Given the description of an element on the screen output the (x, y) to click on. 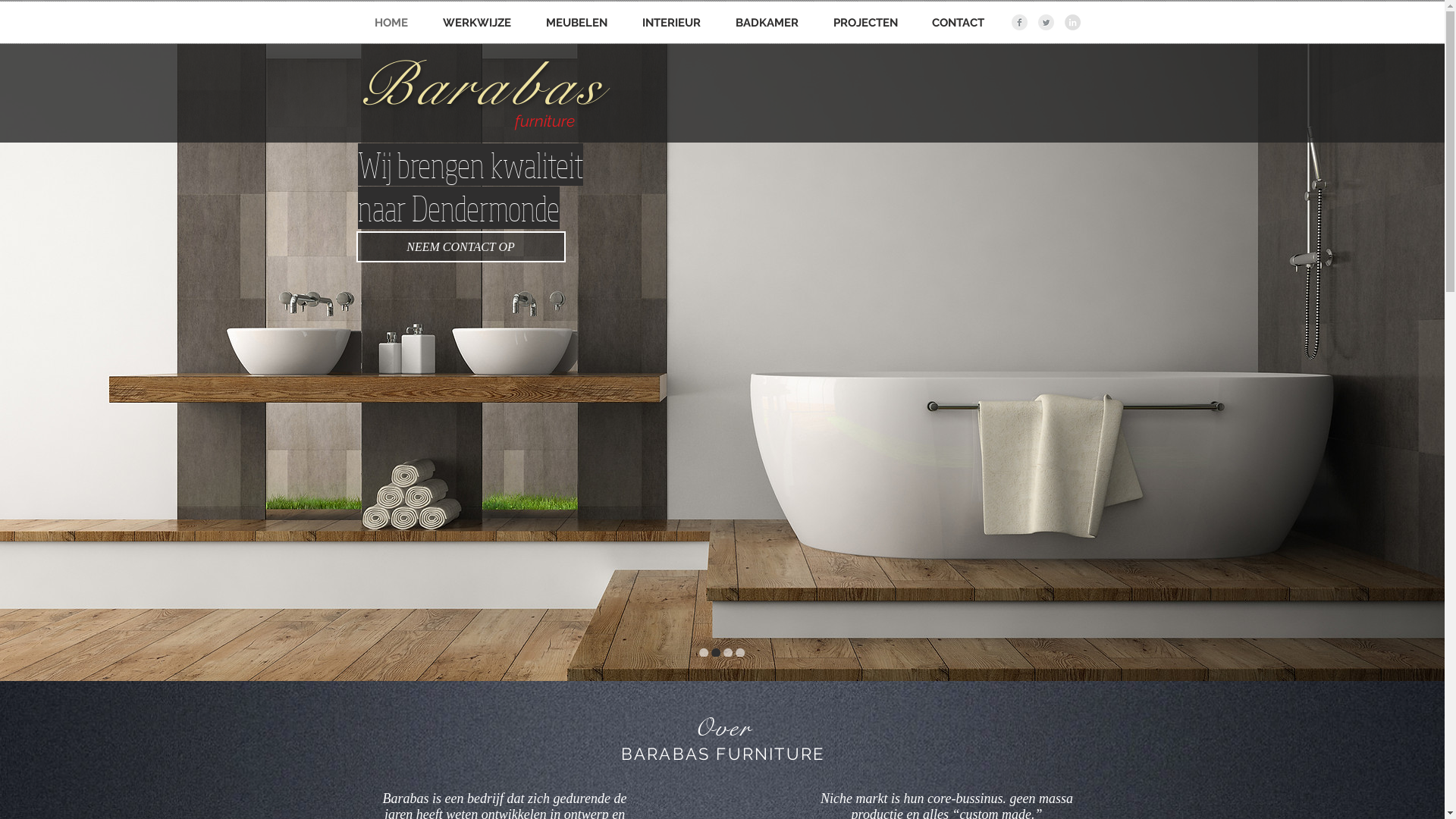
CONTACT Element type: text (957, 22)
MEUBELEN Element type: text (575, 22)
INTERIEUR Element type: text (671, 22)
PROJECTEN Element type: text (865, 22)
NEEM CONTACT OP Element type: text (460, 246)
HOME Element type: text (390, 22)
BADKAMER Element type: text (766, 22)
WERKWIJZE Element type: text (475, 22)
